Given the description of an element on the screen output the (x, y) to click on. 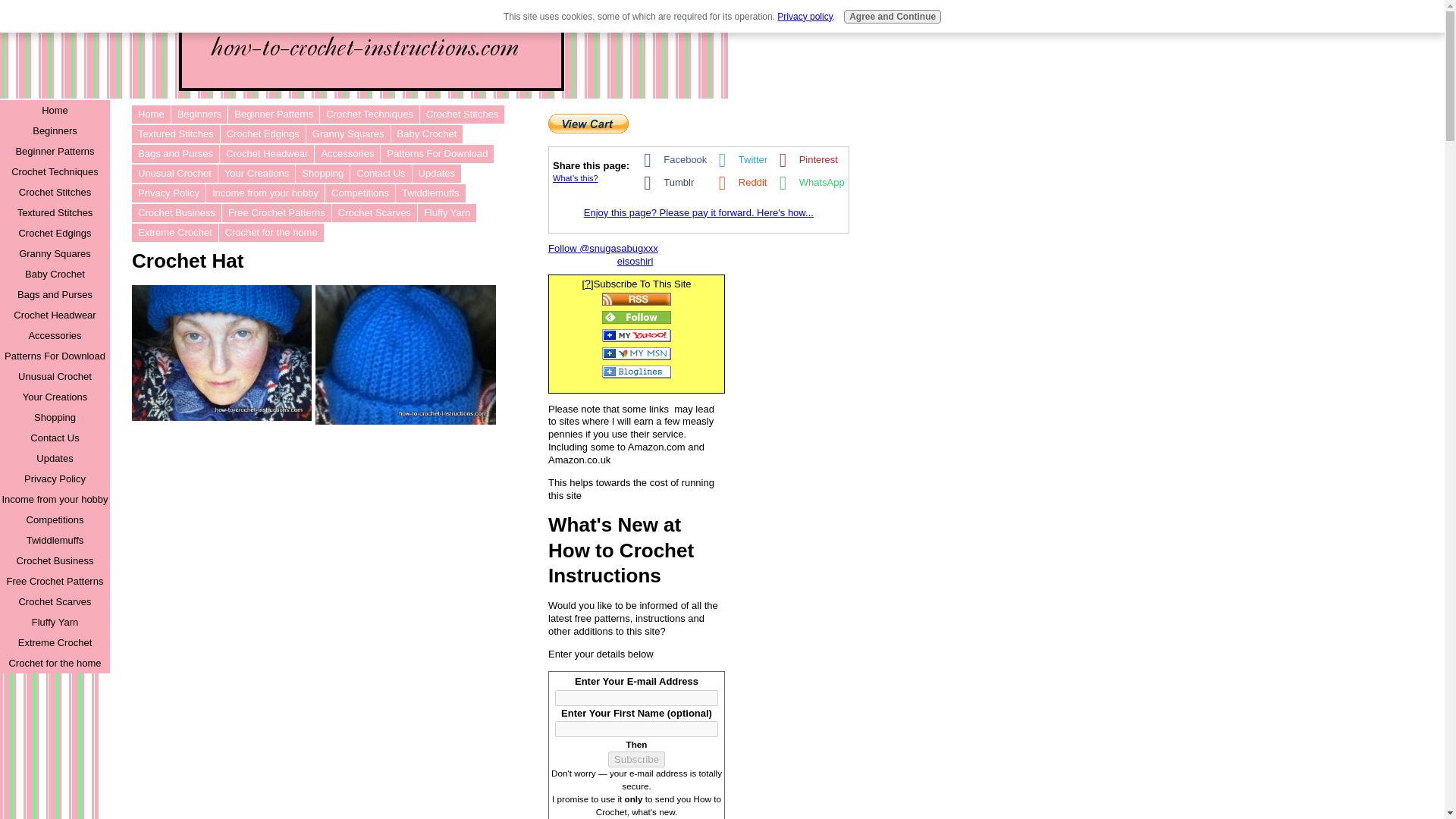
Income from your hobby (265, 193)
Granny Squares (347, 134)
Patterns For Download (436, 153)
Textured Stitches (175, 134)
Crochet for the home (271, 232)
crochet ribbed hat (407, 420)
Your Creations (256, 173)
Crochet Business (176, 212)
Beginner Patterns (273, 114)
Shopping (322, 173)
Home (151, 114)
Accessories (347, 153)
Baby Crochet (427, 134)
Privacy Policy (168, 193)
Crochet Edgings (263, 134)
